Given the description of an element on the screen output the (x, y) to click on. 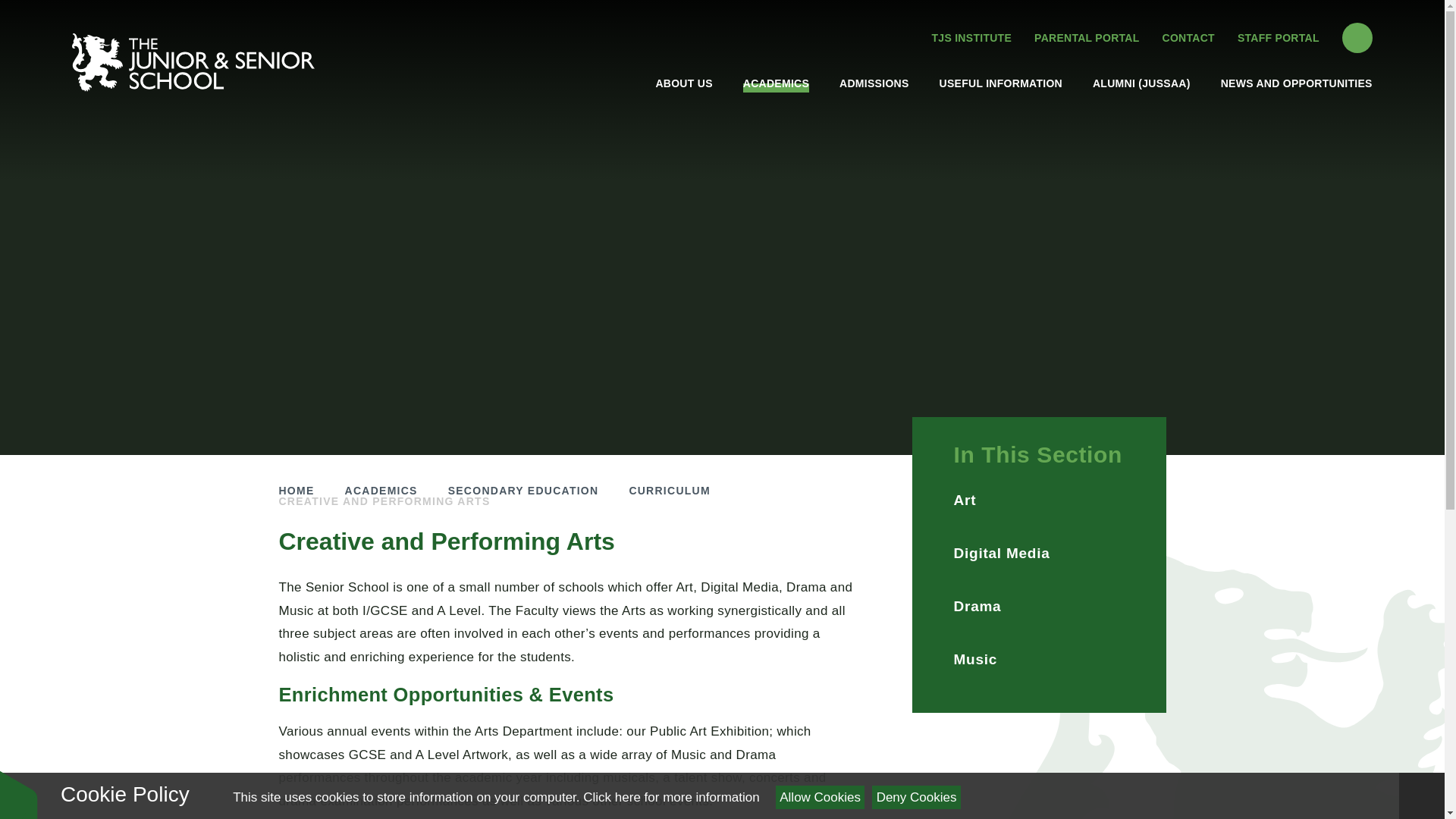
ABOUT US (683, 83)
Allow Cookies (820, 797)
Deny Cookies (915, 797)
See cookie policy (670, 797)
ACADEMICS (775, 83)
